Given the description of an element on the screen output the (x, y) to click on. 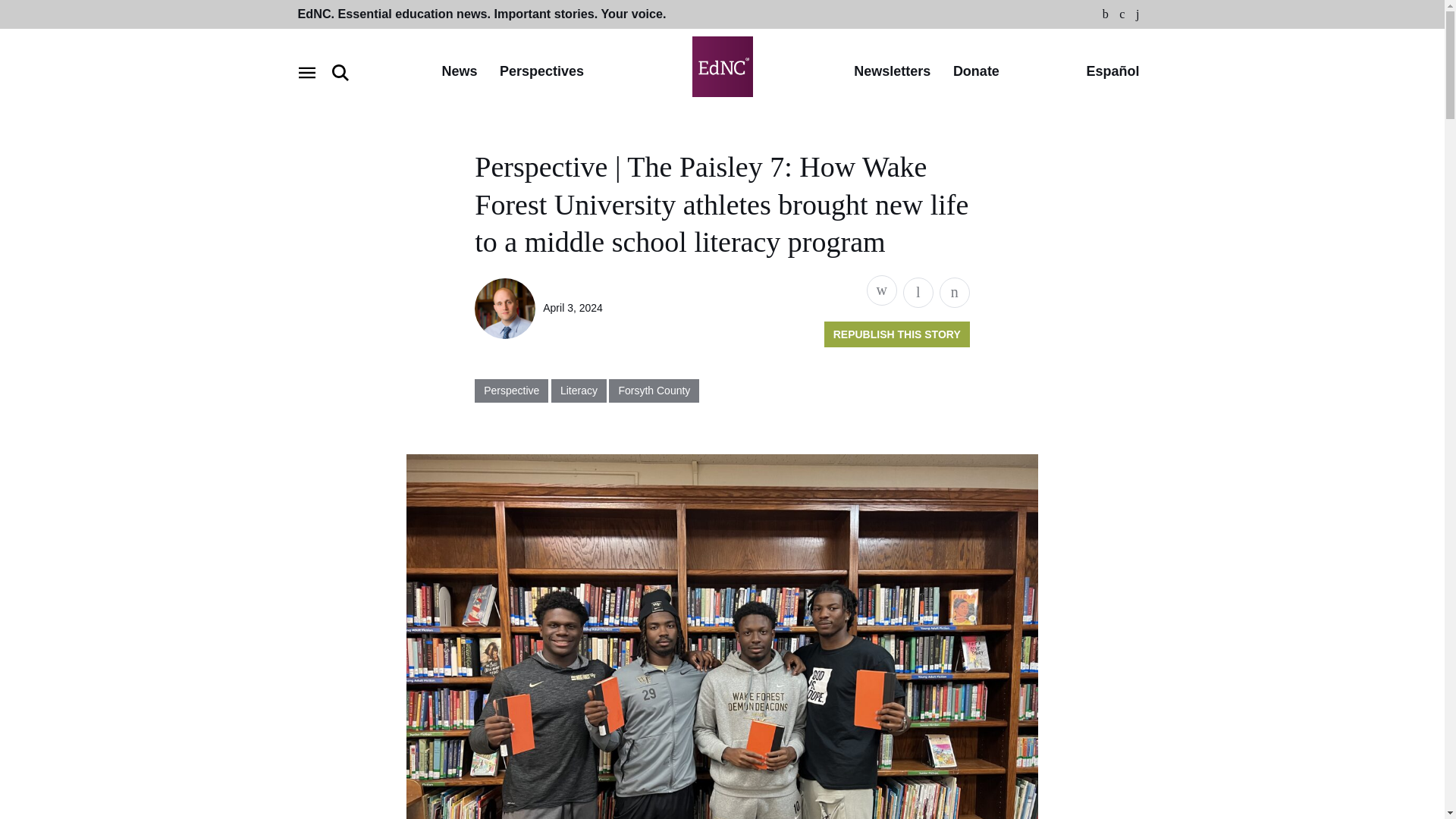
Open navigation (306, 72)
Donate (975, 71)
News (459, 71)
Newsletters (891, 71)
Perspectives (541, 71)
Share this page (881, 290)
